Given the description of an element on the screen output the (x, y) to click on. 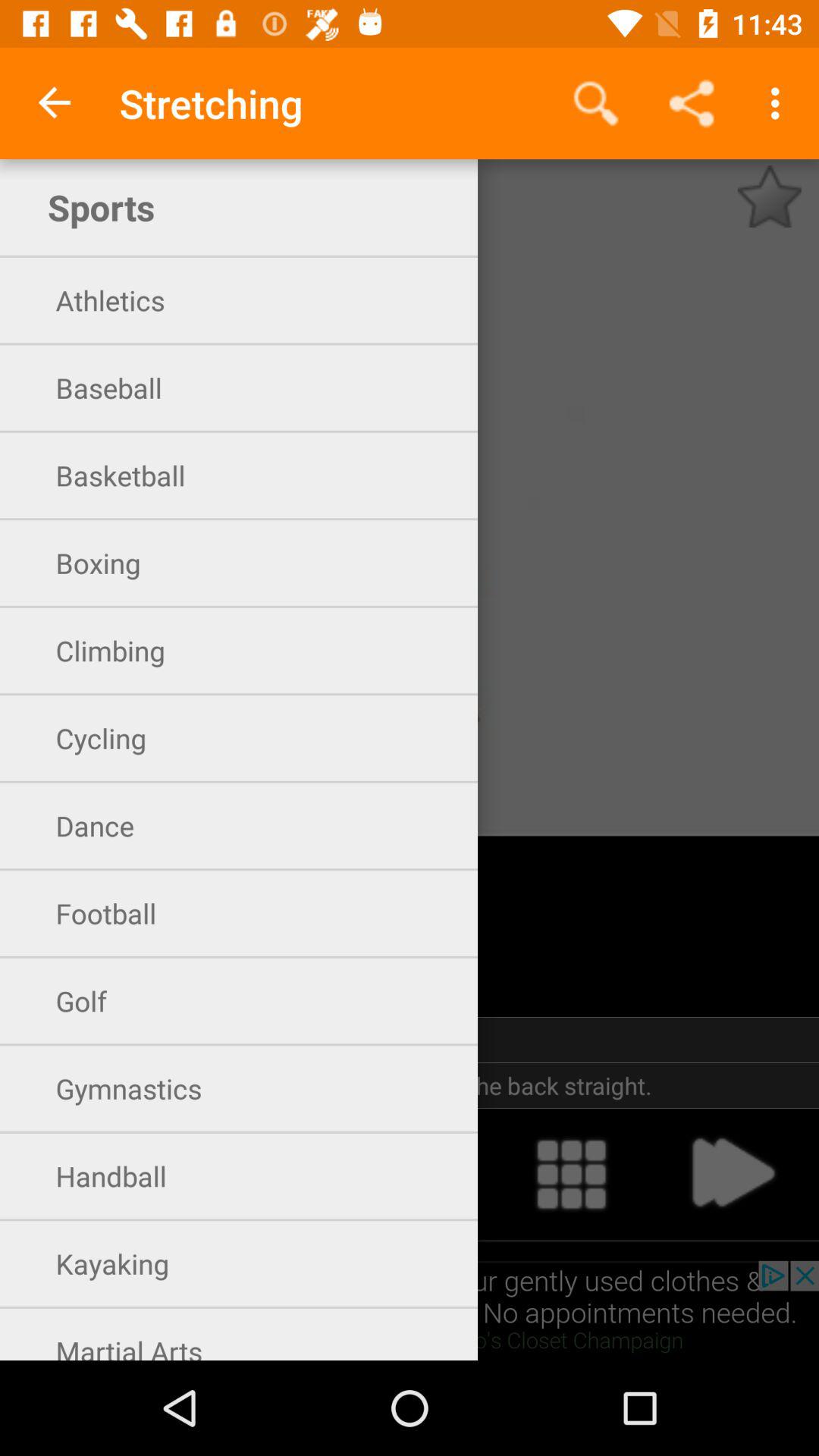
tap icon next to stretching icon (55, 103)
